Given the description of an element on the screen output the (x, y) to click on. 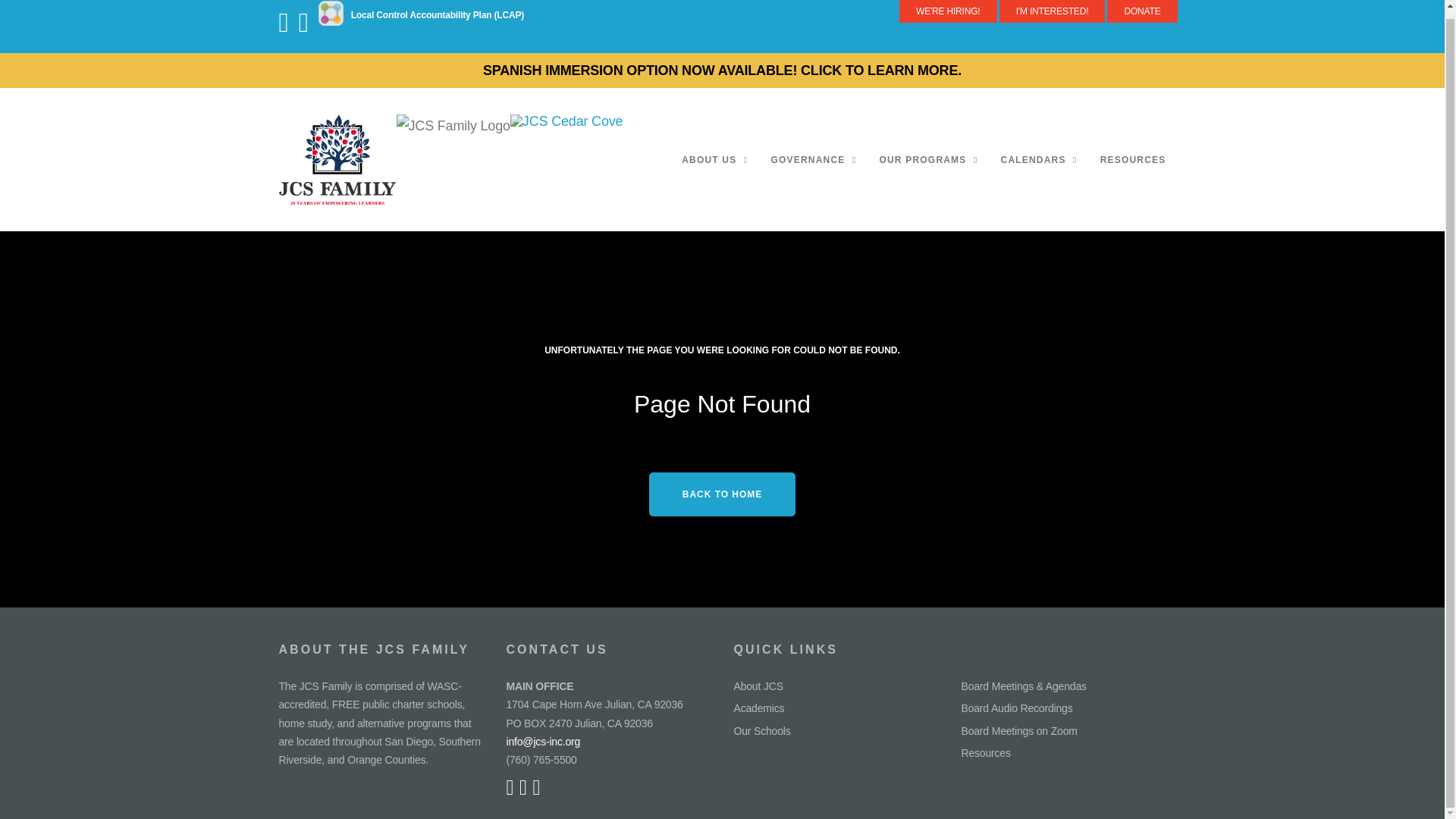
WE'RE HIRING! (948, 11)
CALENDARS (1039, 159)
SPANISH IMMERSION OPTION NOW AVAILABLE! CLICK TO LEARN MORE. (721, 70)
RESOURCES (1133, 159)
Cedar Cove on Instagram (306, 28)
Cedar Cove on ParentSquare (334, 28)
ABOUT US (714, 159)
I'M INTERESTED! (1051, 11)
Our Schools (761, 730)
Cedar Cove on Facebook (288, 28)
